Given the description of an element on the screen output the (x, y) to click on. 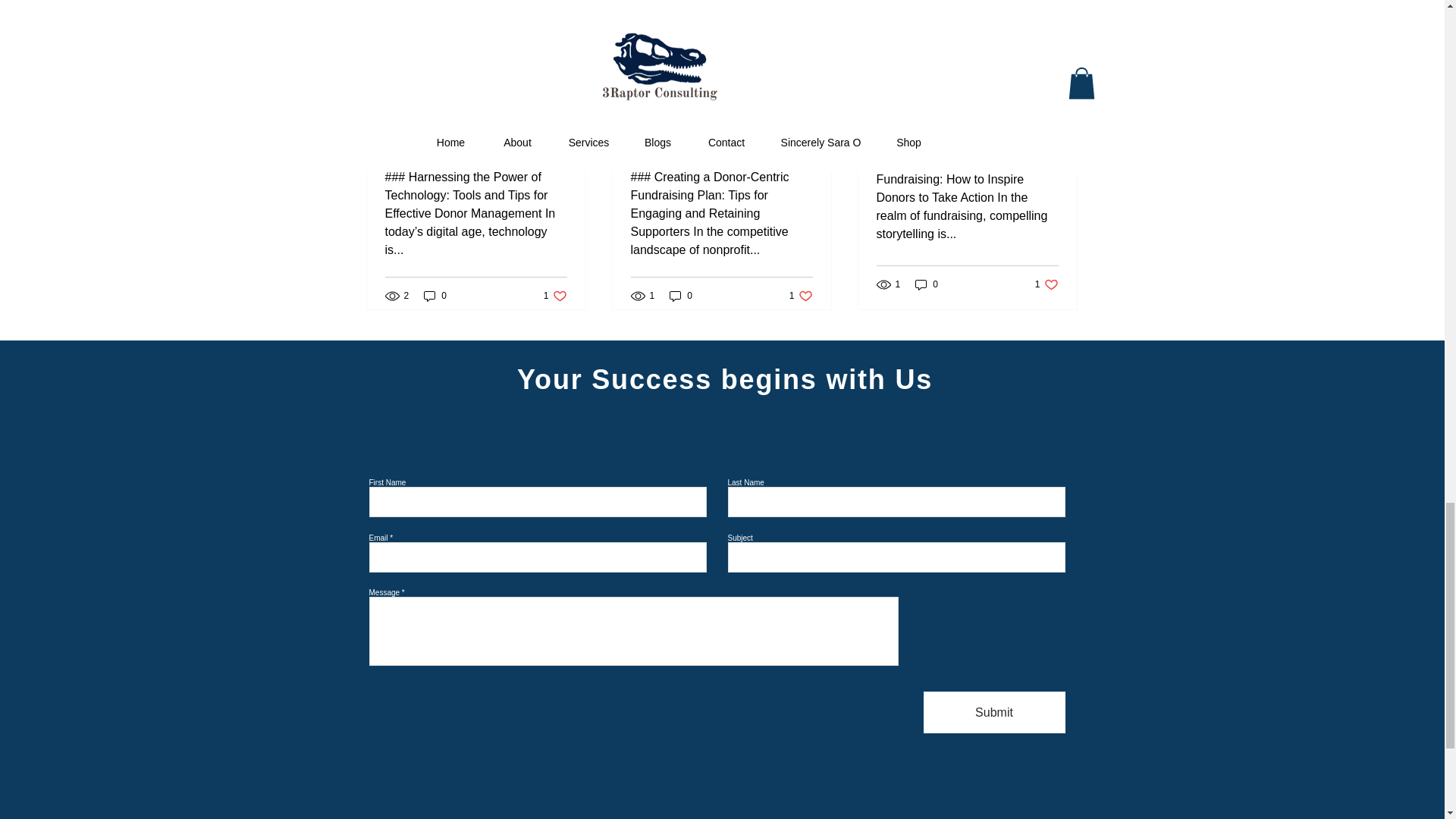
0 (435, 296)
See All (1061, 47)
Submit (994, 712)
0 (555, 296)
0 (681, 296)
